Given the description of an element on the screen output the (x, y) to click on. 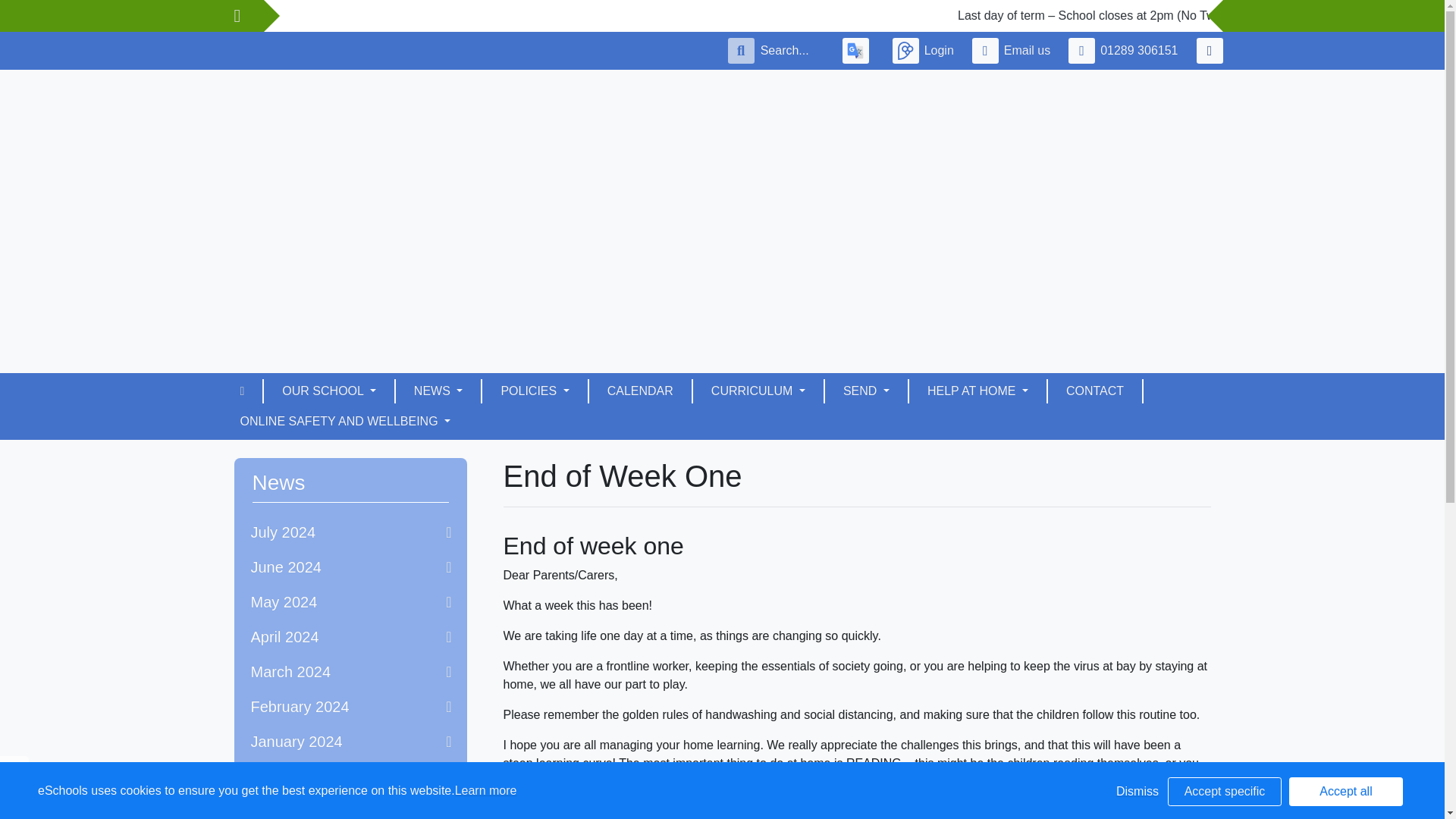
Email us (1014, 50)
Login (925, 50)
01289 306151 (1125, 50)
